Given the description of an element on the screen output the (x, y) to click on. 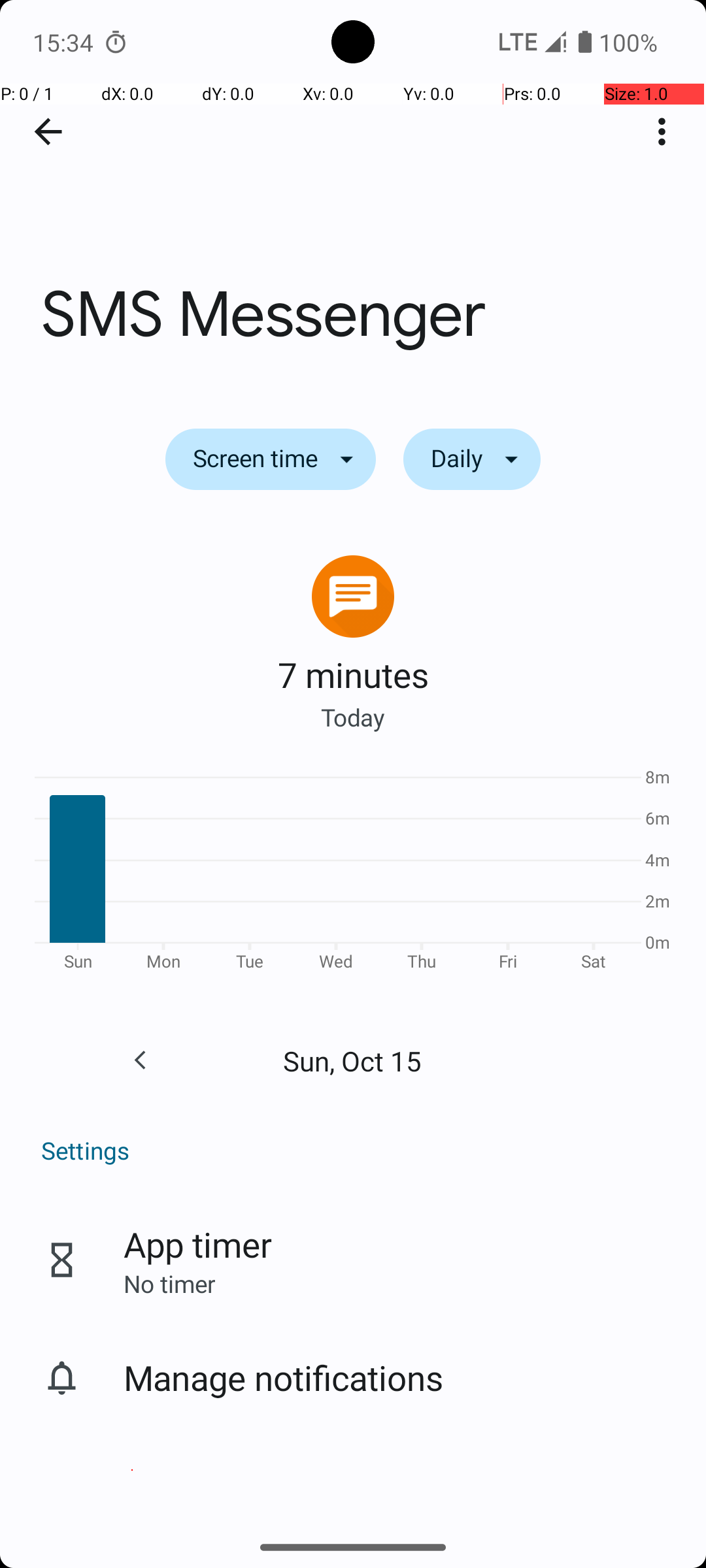
7 minutes Element type: android.widget.TextView (353, 674)
Go to the previous day Element type: android.widget.Button (139, 1060)
Bar Chart. Showing App usage data with 7 data points. Element type: android.view.ViewGroup (353, 873)
App timer Element type: android.widget.TextView (197, 1244)
No timer Element type: android.widget.TextView (169, 1283)
Manage notifications Element type: android.widget.TextView (283, 1377)
